Given the description of an element on the screen output the (x, y) to click on. 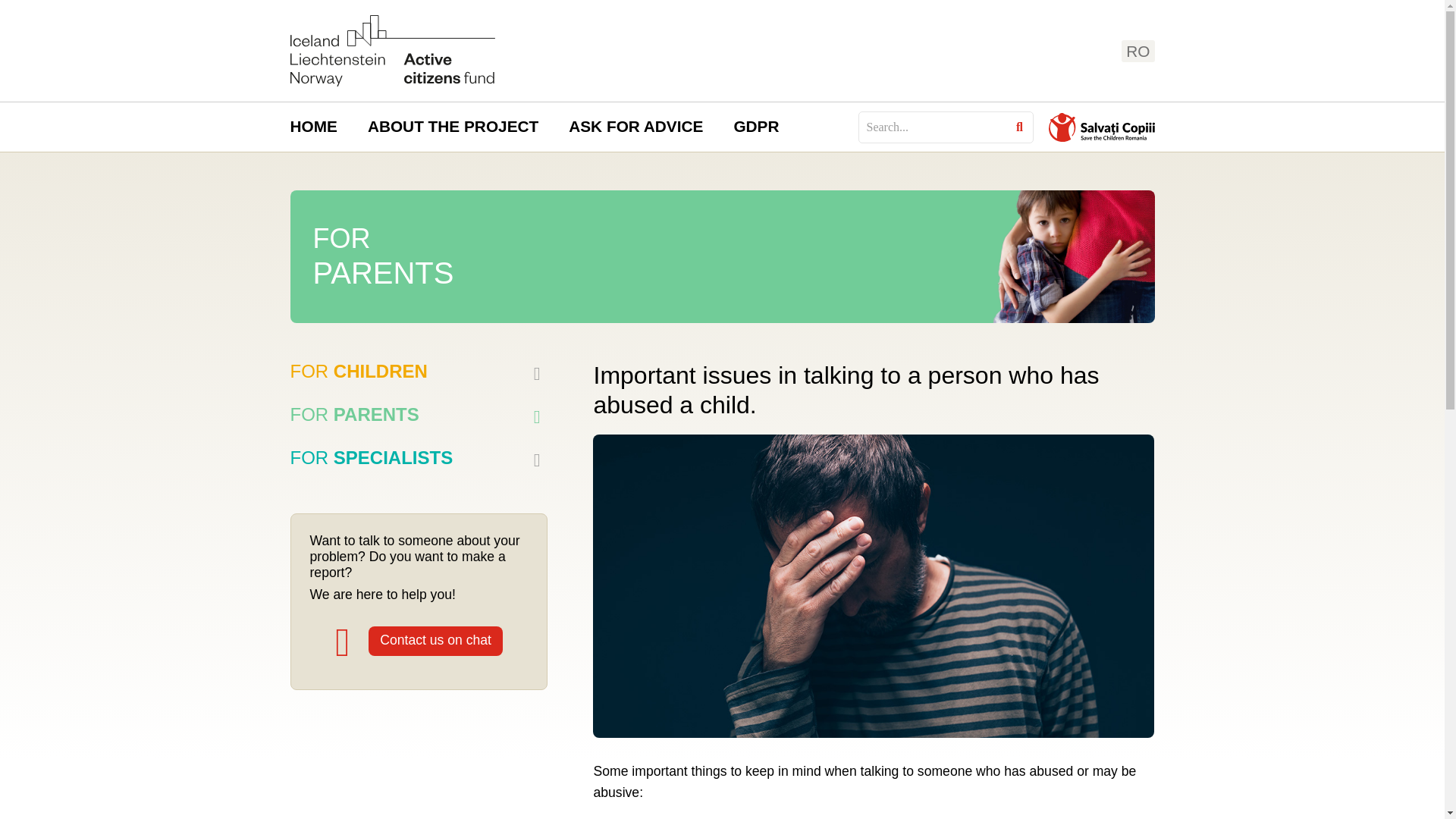
FOR PARENTS (354, 414)
FOR SPECIALISTS (370, 457)
FOR CHILDREN (357, 371)
HOME (313, 126)
GDPR (755, 126)
ABOUT THE PROJECT (452, 126)
Contact us on chat (435, 641)
ASK FOR ADVICE (635, 126)
RO (1137, 51)
